Given the description of an element on the screen output the (x, y) to click on. 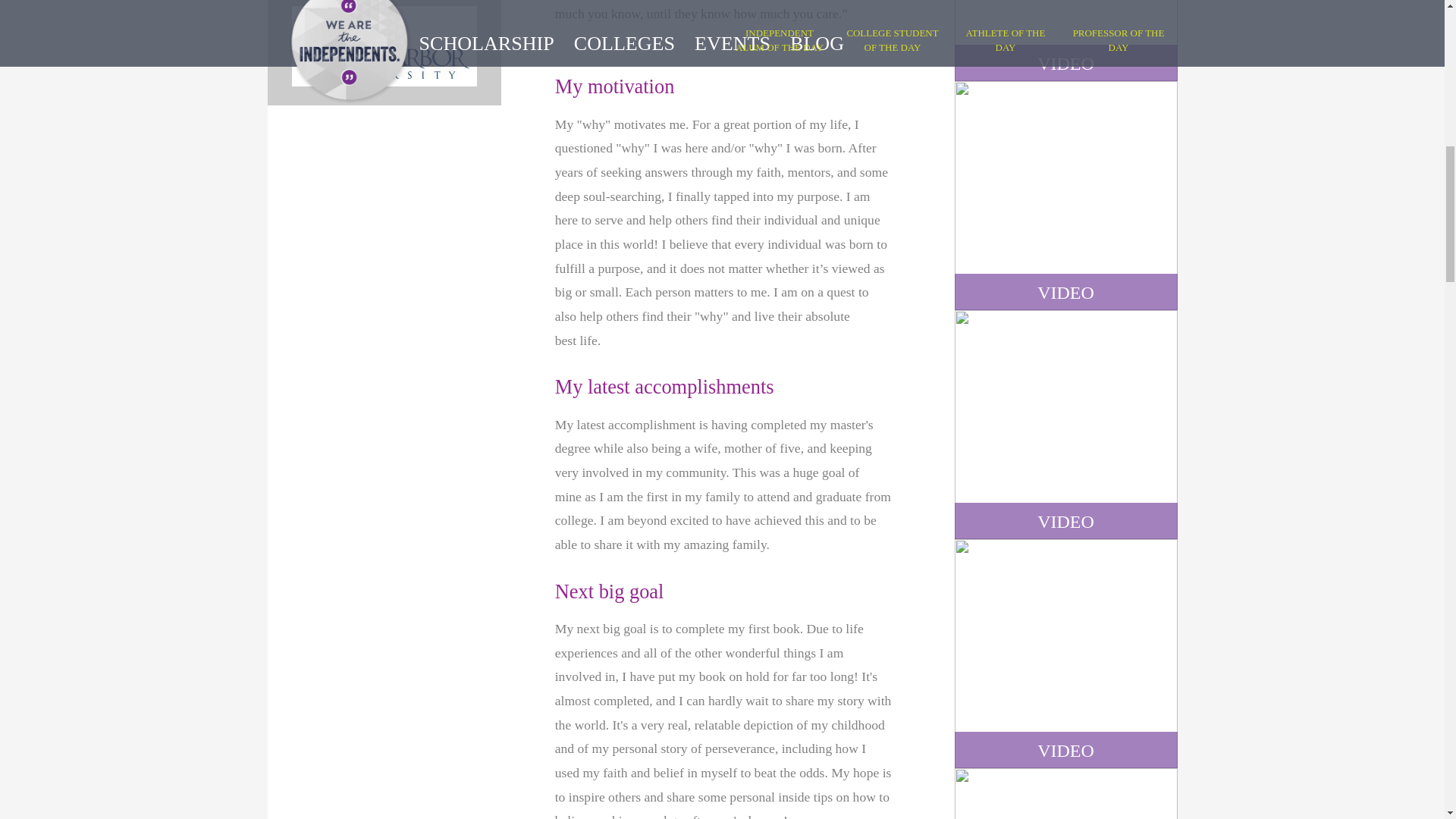
WATCH THE MANIFESTO VIDEO (1064, 40)
WATCH THE MANIFESTO VIDEO (1064, 195)
WATCH THE MANIFESTO VIDEO (1064, 653)
WATCH THE MANIFESTO VIDEO (1064, 793)
WATCH THE MANIFESTO VIDEO (1064, 424)
